Given the description of an element on the screen output the (x, y) to click on. 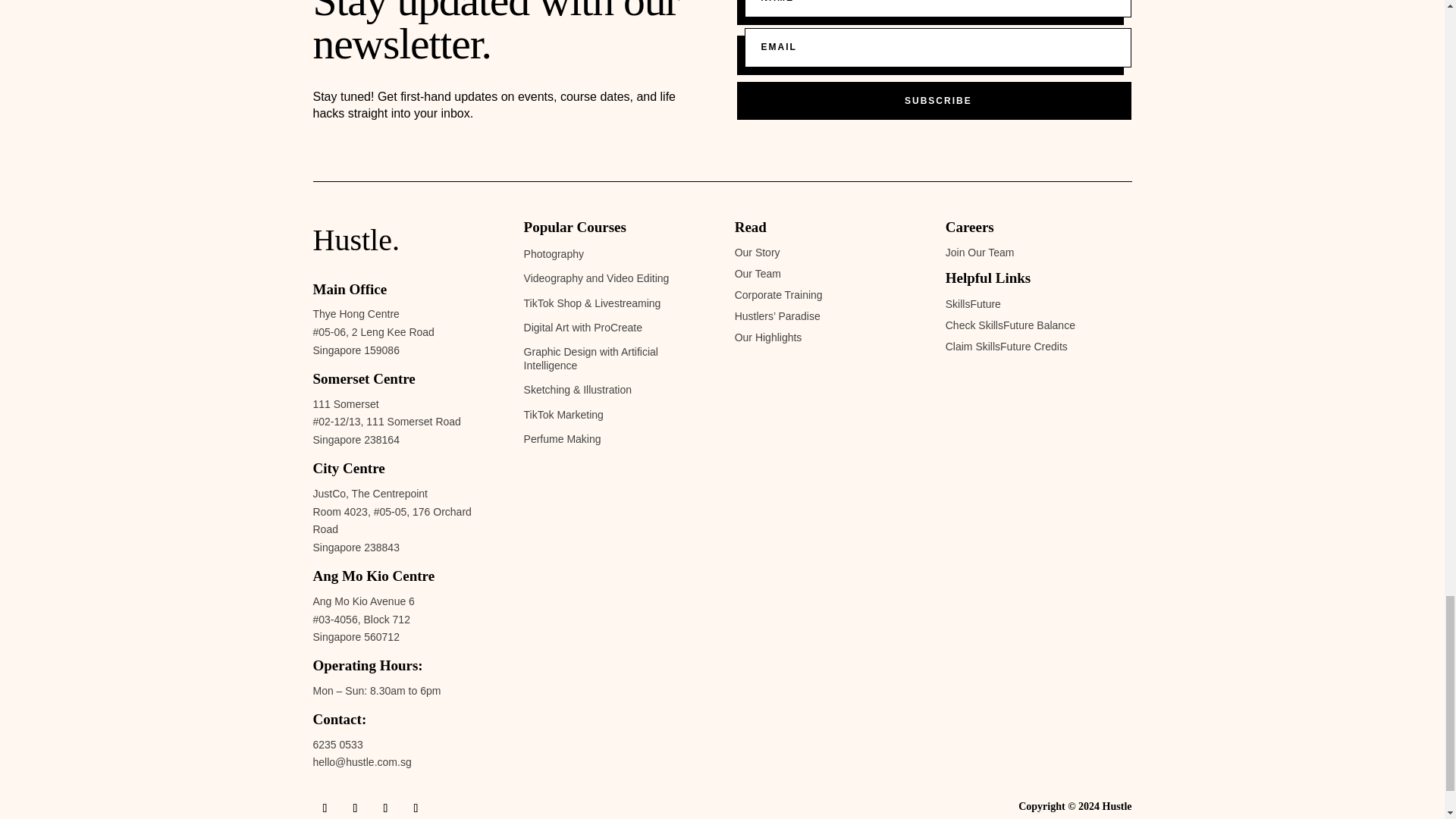
Follow on TikTok (384, 807)
Follow on LinkedIn (415, 807)
Follow on Instagram (354, 807)
Follow on Facebook (324, 807)
